Given the description of an element on the screen output the (x, y) to click on. 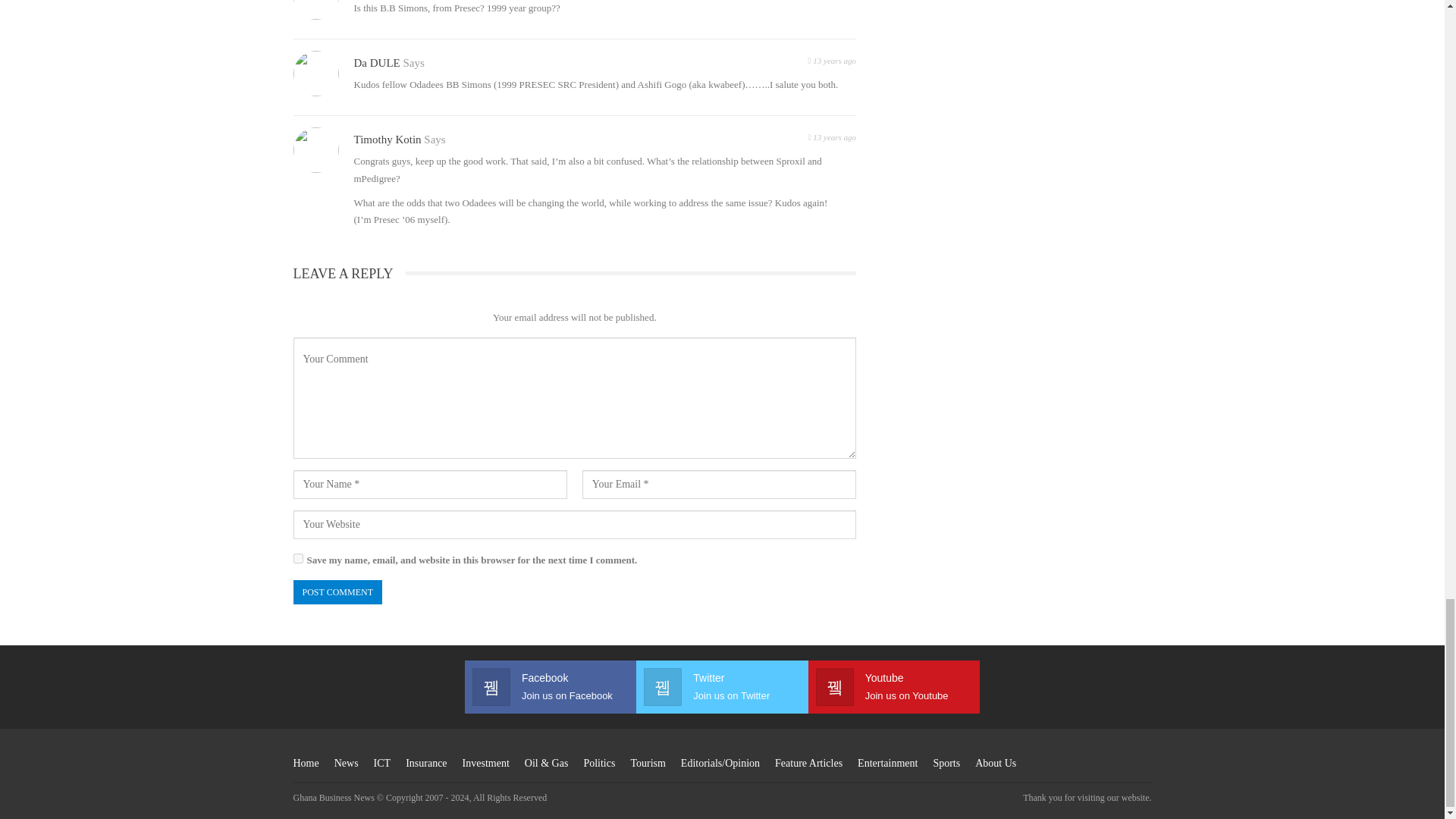
Post Comment (336, 592)
yes (297, 558)
